Given the description of an element on the screen output the (x, y) to click on. 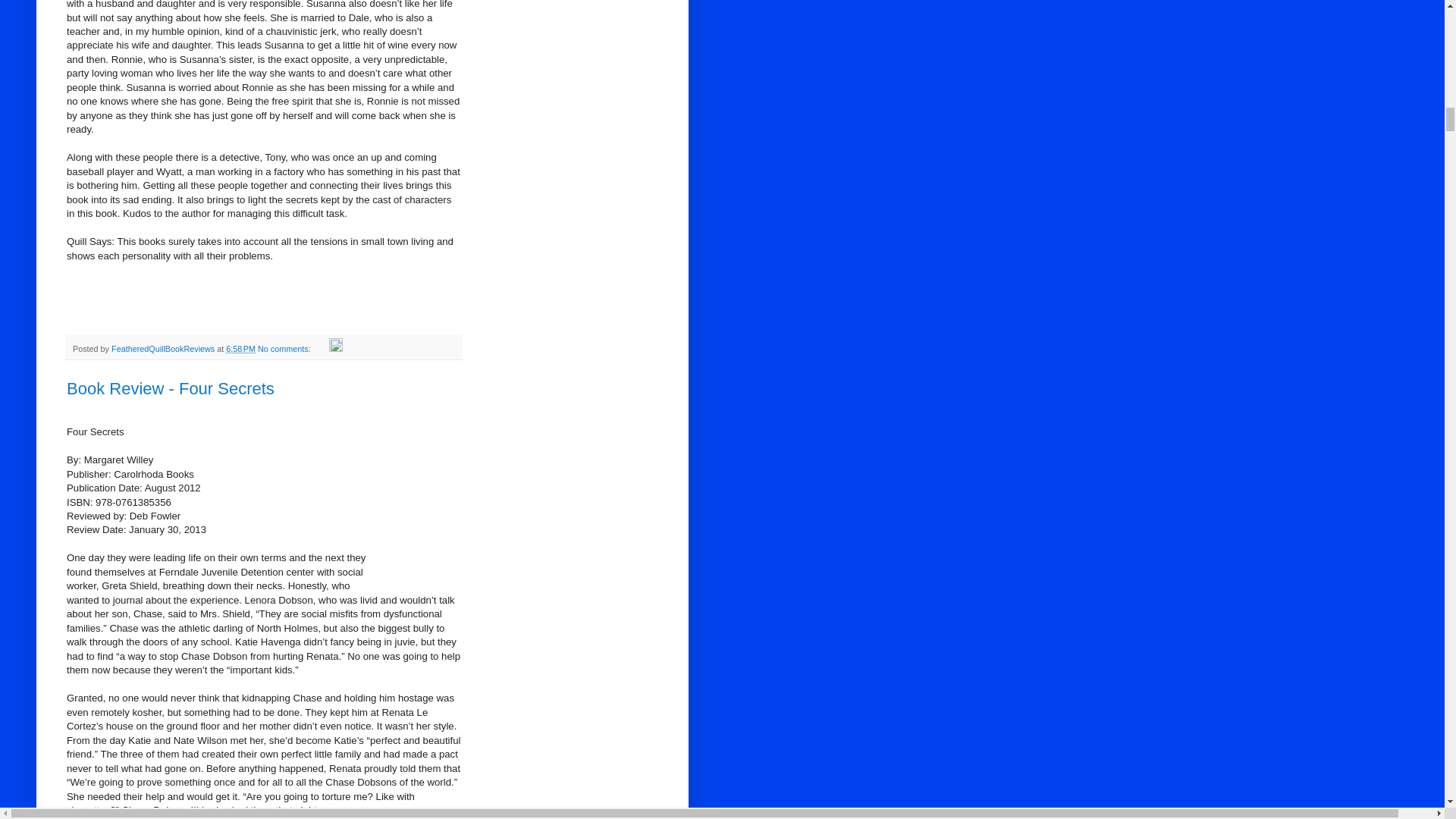
Email Post (321, 347)
No comments: (285, 347)
author profile (164, 347)
permanent link (240, 347)
Book Review - Four Secrets (170, 388)
Edit Post (335, 347)
FeatheredQuillBookReviews (164, 347)
